Given the description of an element on the screen output the (x, y) to click on. 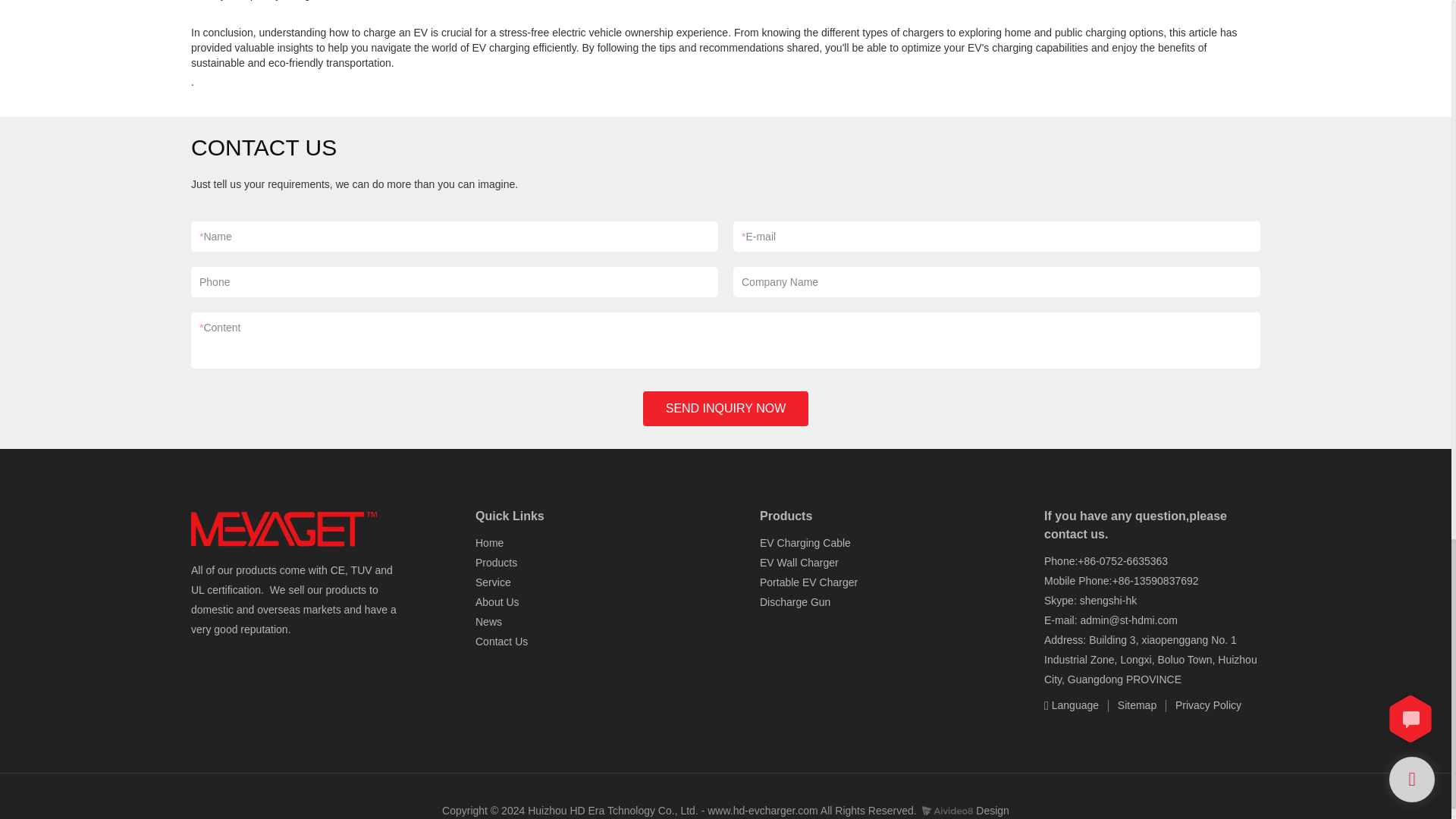
EV Wall Charger (799, 562)
News (489, 621)
About Us (497, 602)
Service (493, 582)
Discharge Gun (794, 602)
Home (489, 542)
Contact Us (501, 641)
Privacy Policy (1199, 704)
Sitemap (1130, 704)
SEND INQUIRY NOW (726, 408)
Portable EV Charger (808, 582)
Language (1072, 704)
Products  (497, 562)
EV Charging Cable (805, 542)
